Given the description of an element on the screen output the (x, y) to click on. 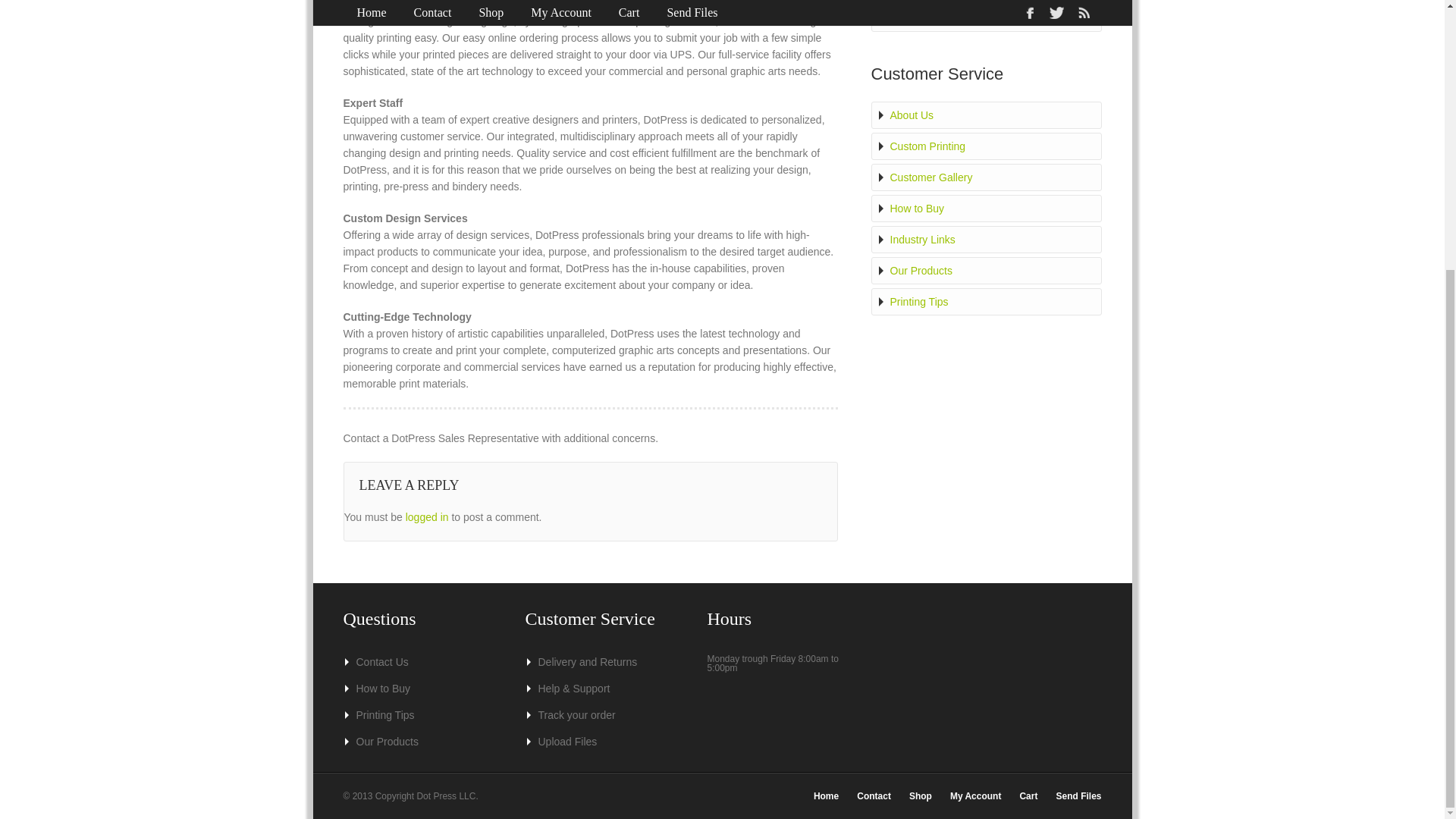
How to Buy (985, 208)
Industry Links (985, 239)
Delivery and Returns (599, 662)
logged in (427, 517)
Our Products (417, 741)
Upload Files (599, 741)
Track your order (599, 715)
Contact Us (417, 662)
Shop (919, 796)
How to Buy (417, 688)
Posters (985, 17)
Printing Tips (985, 301)
Customer Gallery (985, 177)
About Us (985, 114)
Custom Printing (985, 145)
